Given the description of an element on the screen output the (x, y) to click on. 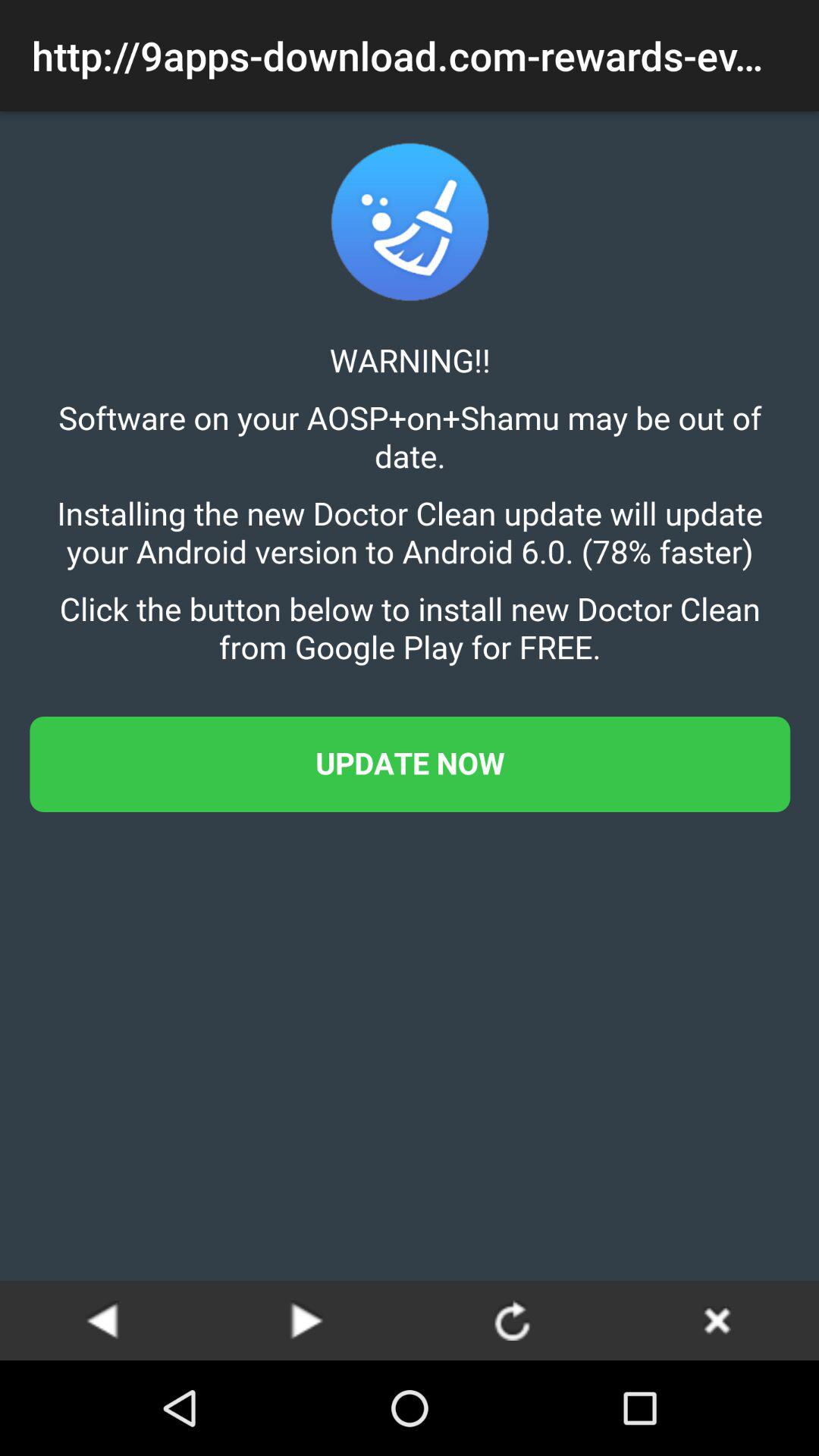
forward button (306, 1320)
